Given the description of an element on the screen output the (x, y) to click on. 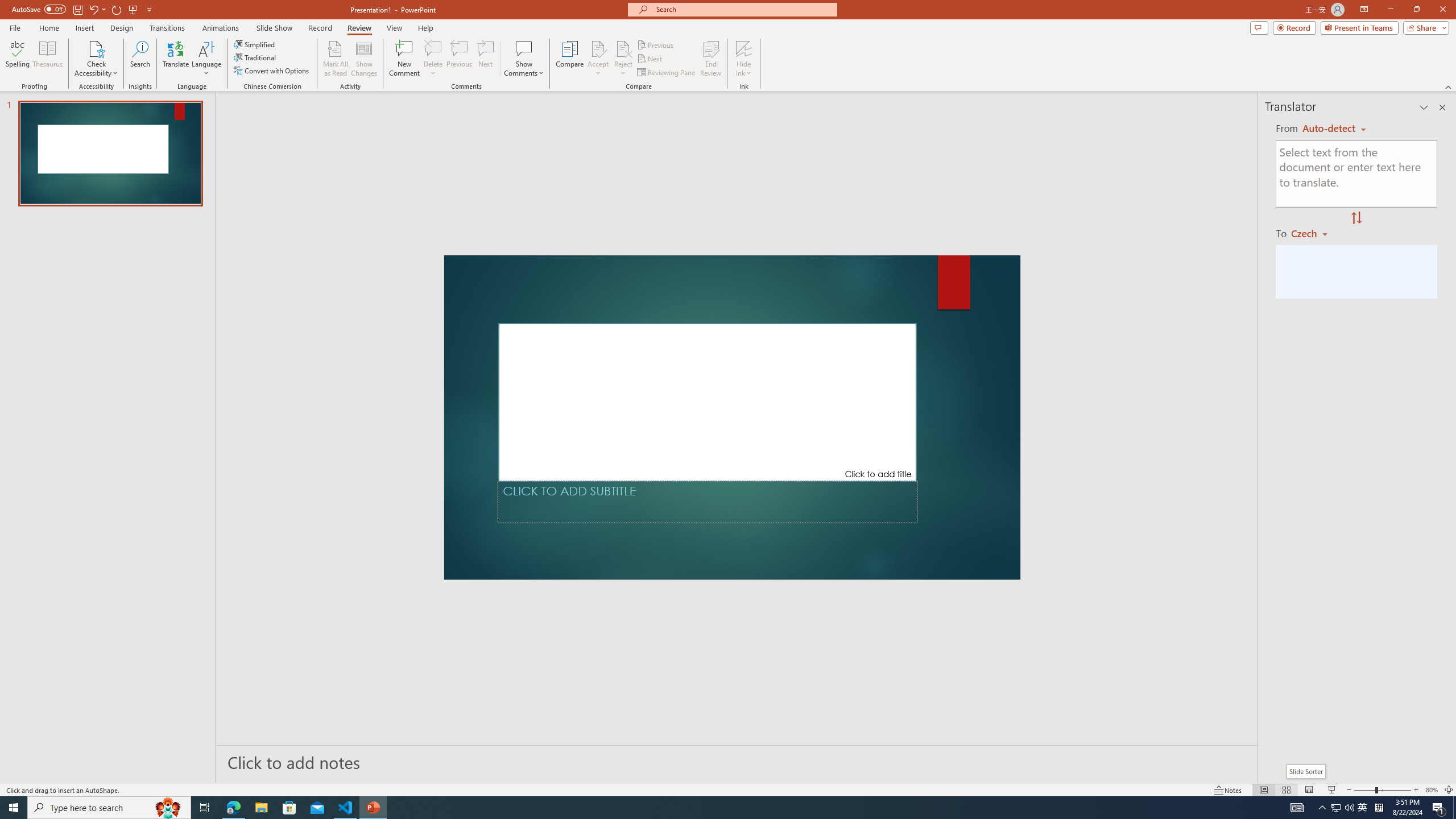
Check Accessibility (95, 58)
Subtitle TextBox (707, 501)
Show Comments (524, 48)
Show Changes (363, 58)
Hide Ink (743, 58)
Show Comments (524, 58)
Check Accessibility (95, 48)
